Given the description of an element on the screen output the (x, y) to click on. 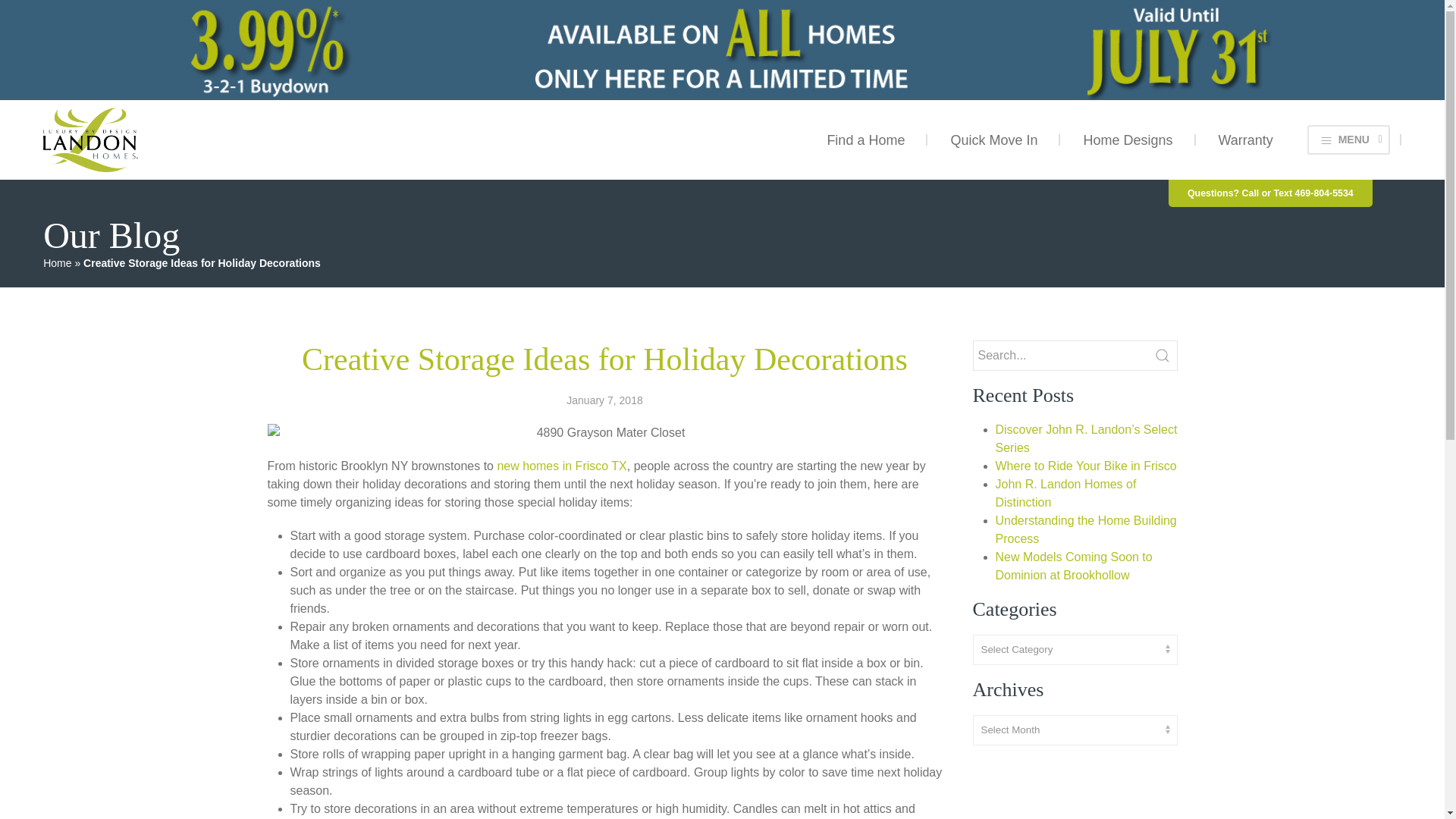
Find a Home (865, 139)
new homes in Frisco TX (561, 465)
Quick Move In (993, 139)
Home Designs (1127, 139)
  MENU (1348, 139)
Home (57, 263)
Warranty (1245, 139)
